Given the description of an element on the screen output the (x, y) to click on. 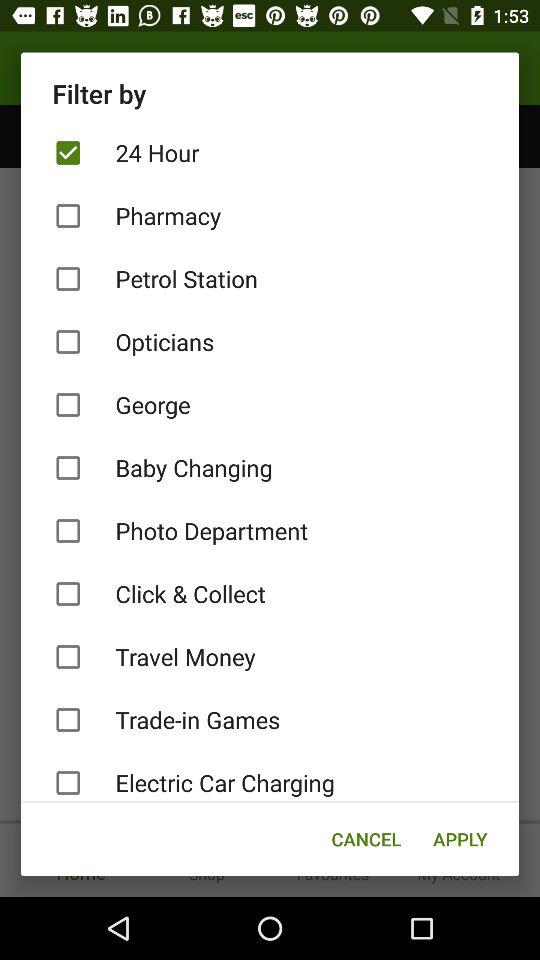
press george icon (270, 404)
